Given the description of an element on the screen output the (x, y) to click on. 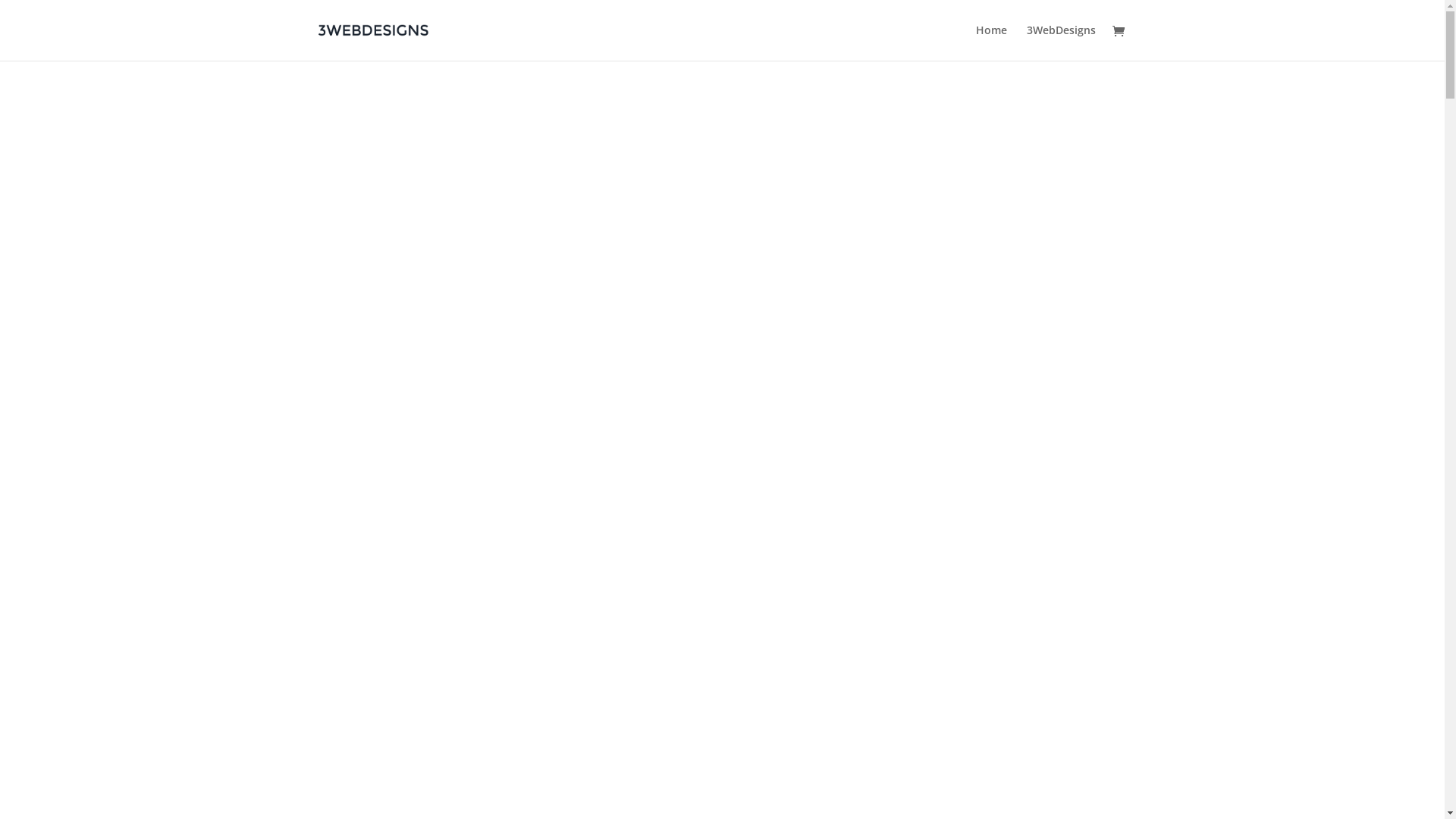
3WebDesigns Element type: text (1060, 42)
Home Element type: text (990, 42)
